Given the description of an element on the screen output the (x, y) to click on. 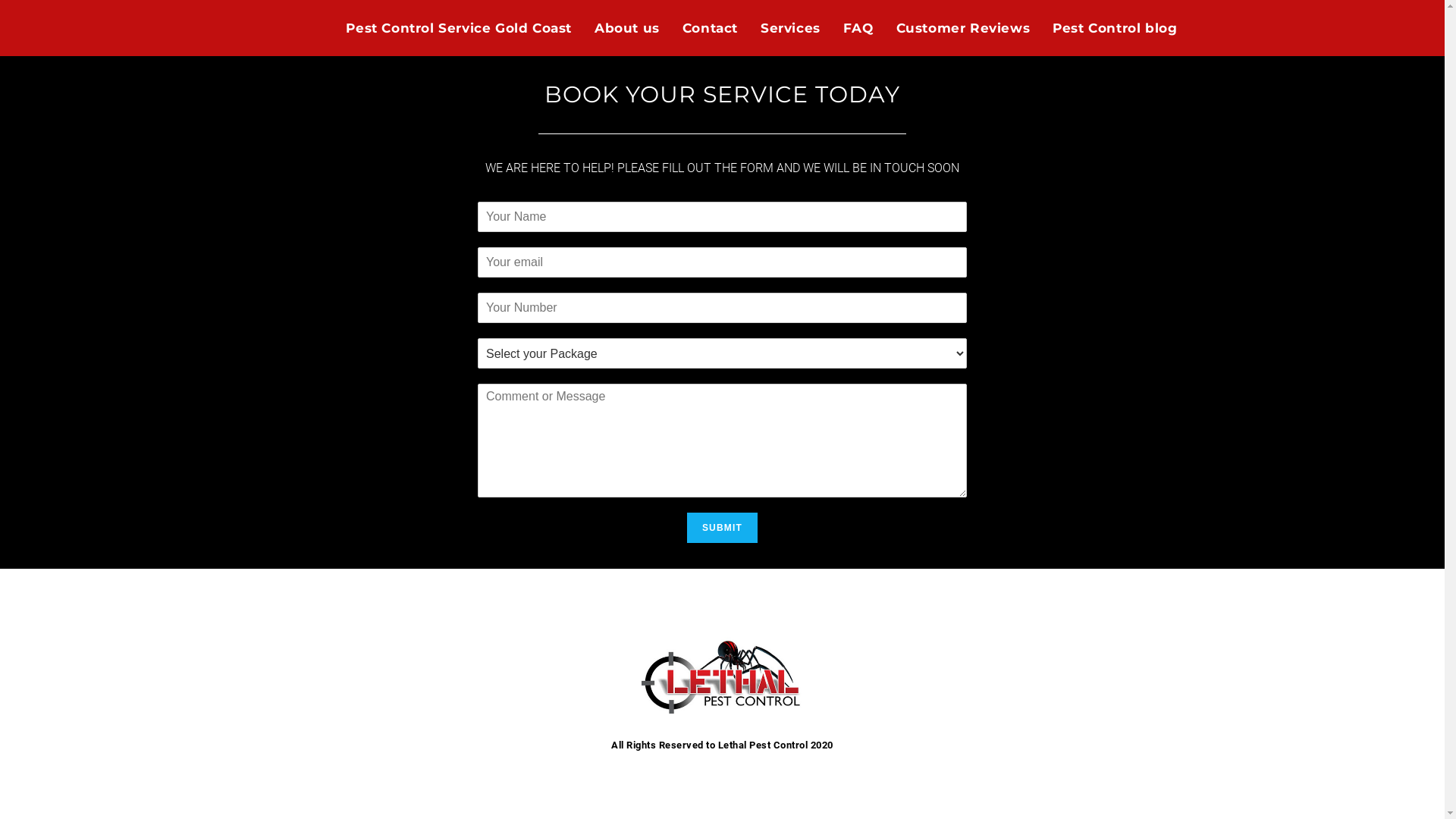
Contact Element type: text (710, 28)
SUBMIT Element type: text (722, 527)
Customer Reviews Element type: text (962, 28)
Services Element type: text (790, 28)
Pest Control Service Gold Coast Element type: text (458, 28)
About us Element type: text (627, 28)
FAQ Element type: text (857, 28)
Pest Control blog Element type: text (1114, 28)
